Given the description of an element on the screen output the (x, y) to click on. 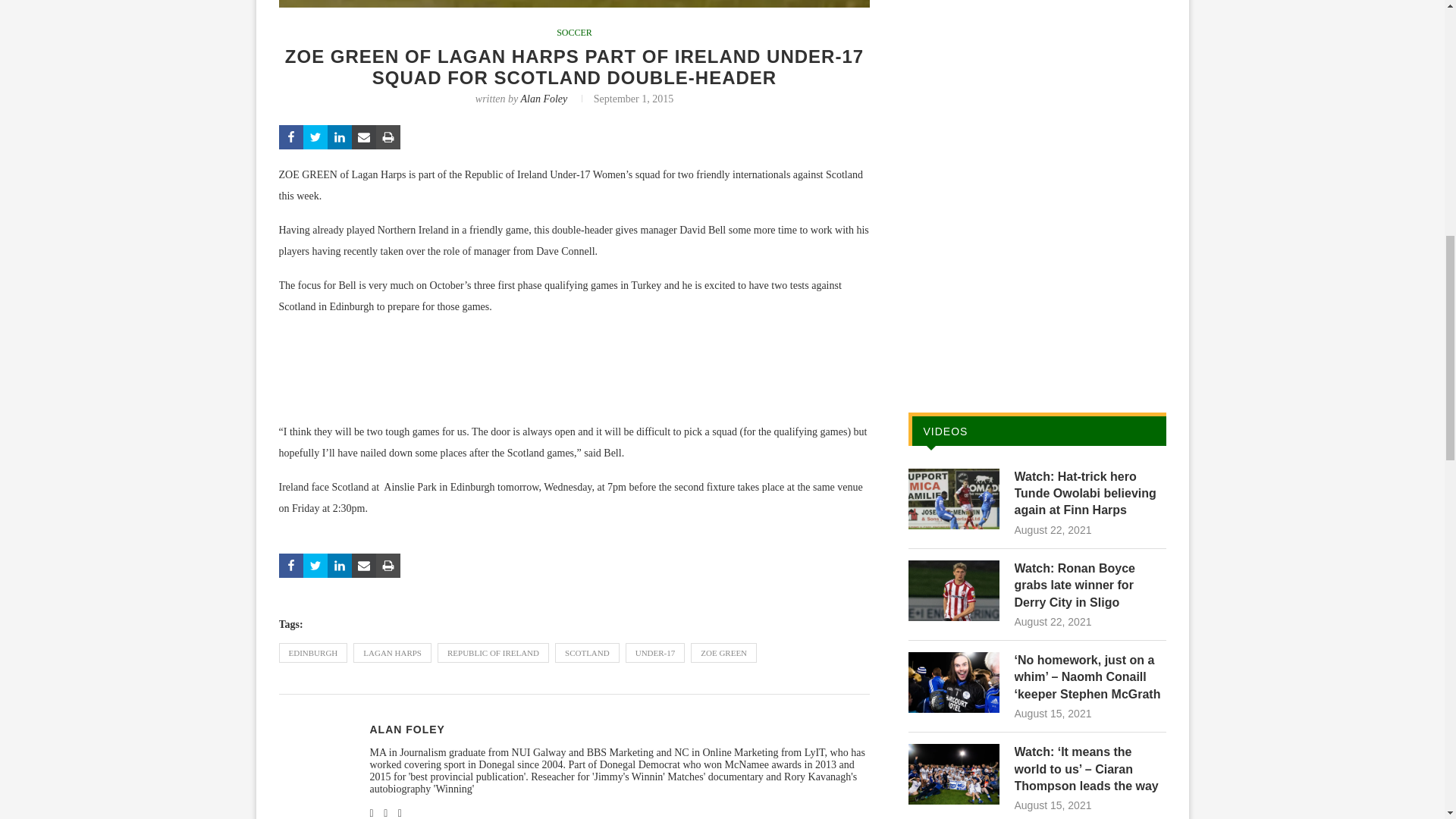
Print this Page (387, 565)
Share on Facebook (290, 565)
Share on Facebook (290, 137)
Share on Twitter (314, 137)
Alan Foley (543, 98)
Share on LinkedIn (339, 137)
Share via Email (363, 137)
Share via Email (363, 565)
Print this Page (387, 137)
View all posts in SOCCER (574, 32)
Posts by Alan Foley (407, 729)
Share on LinkedIn (339, 565)
SOCCER (574, 32)
Share on Twitter (314, 565)
